Given the description of an element on the screen output the (x, y) to click on. 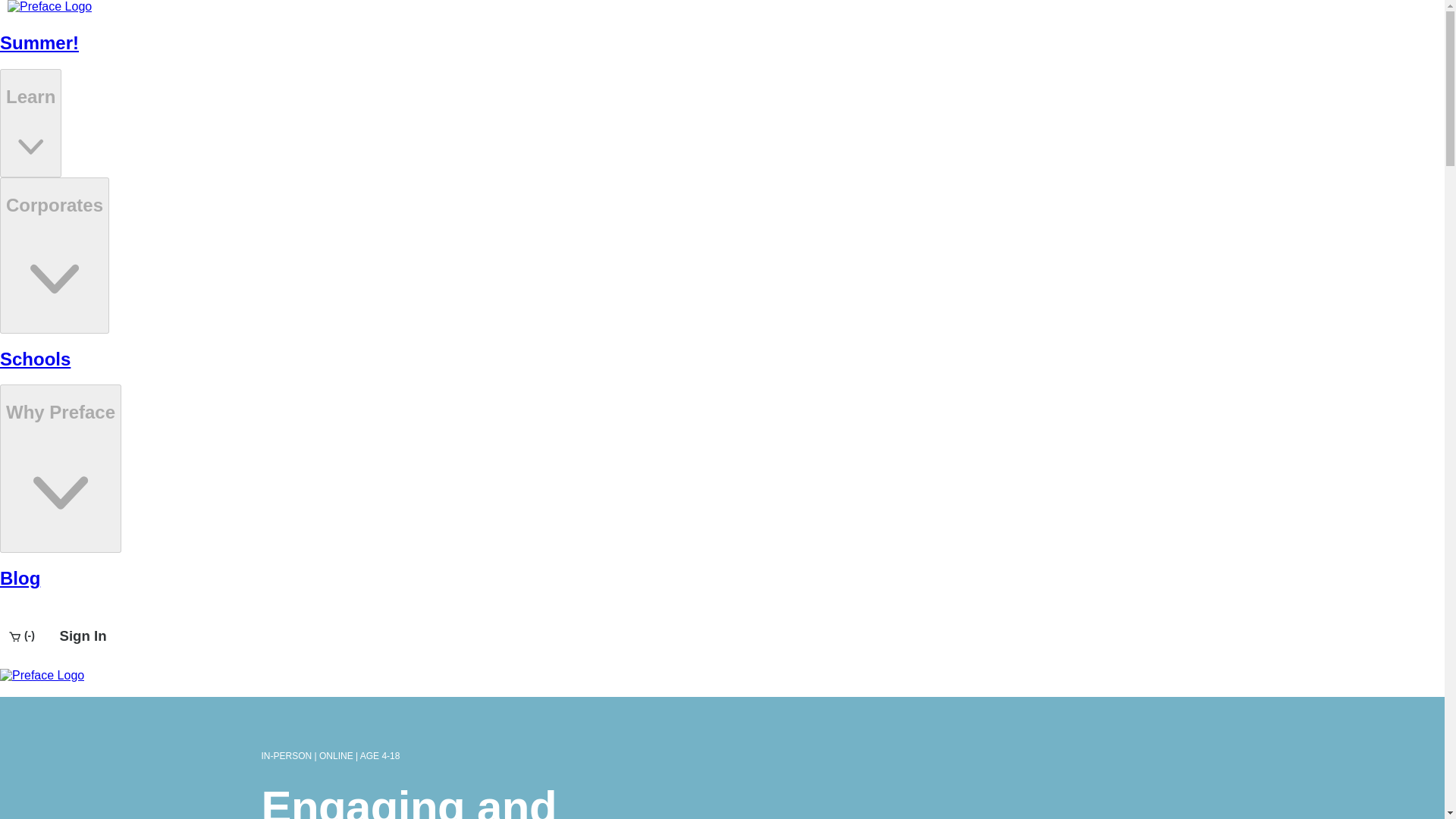
Sign In (82, 635)
